Given the description of an element on the screen output the (x, y) to click on. 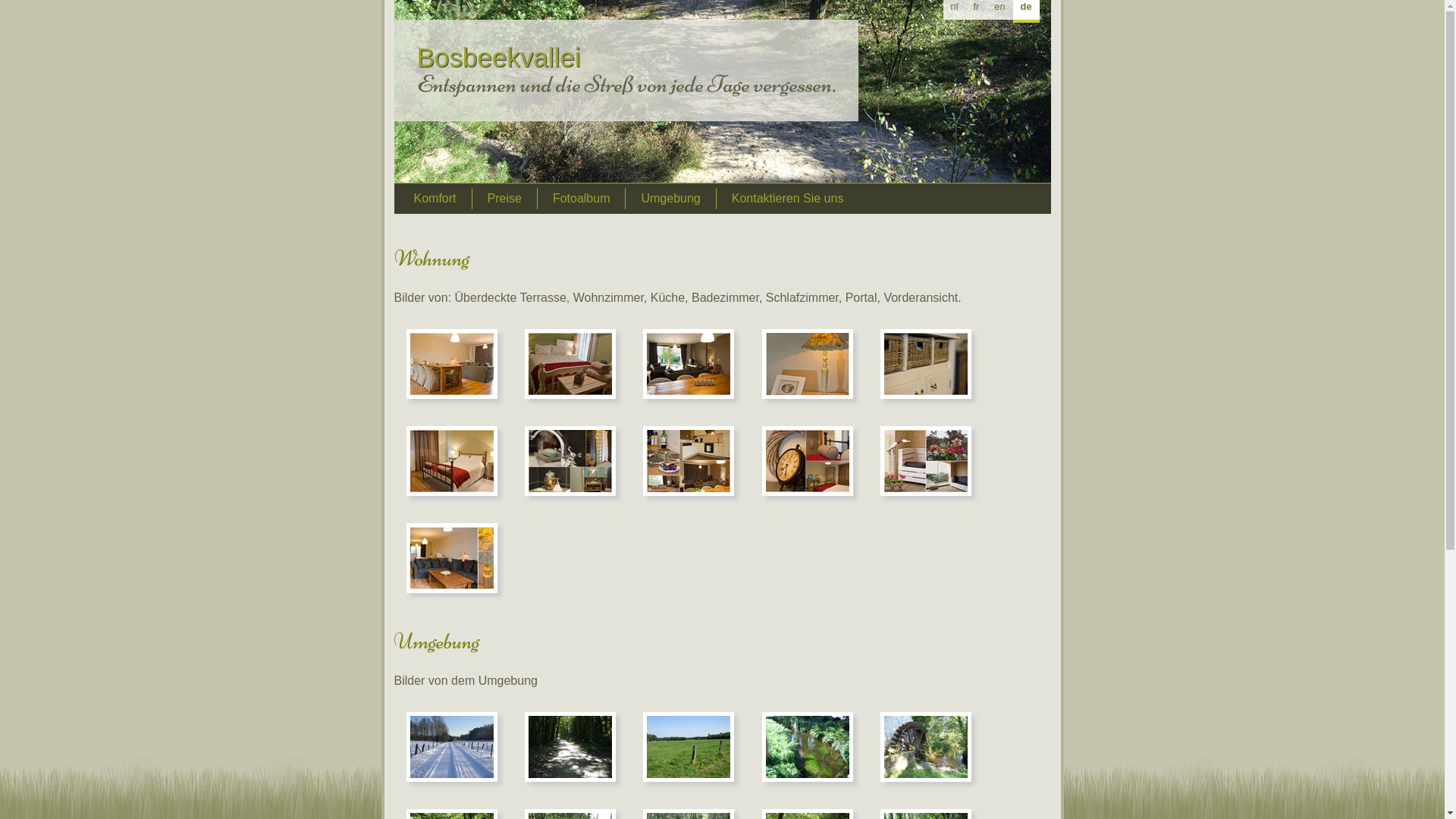
Bosbeekvallei Element type: text (498, 57)
Preise Element type: text (504, 198)
Fotoalbum Element type: text (581, 198)
Umgebung Element type: text (670, 198)
Komfort Element type: text (434, 198)
Kontaktieren Sie uns Element type: text (787, 198)
